Given the description of an element on the screen output the (x, y) to click on. 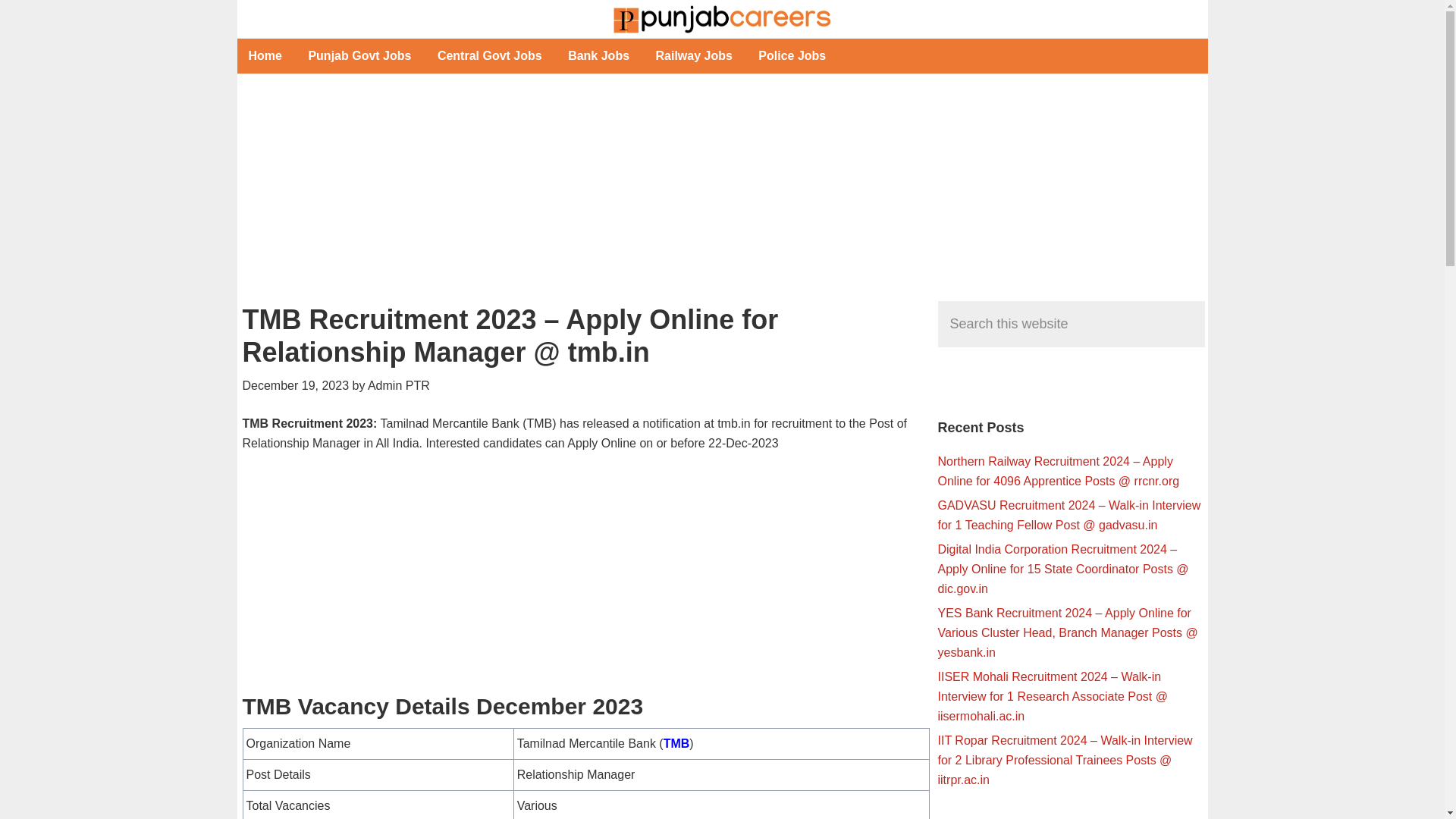
Bank Jobs (598, 55)
Home (263, 55)
TMB (676, 743)
Railway Jobs (694, 55)
Punjab Govt Jobs (359, 55)
